Given the description of an element on the screen output the (x, y) to click on. 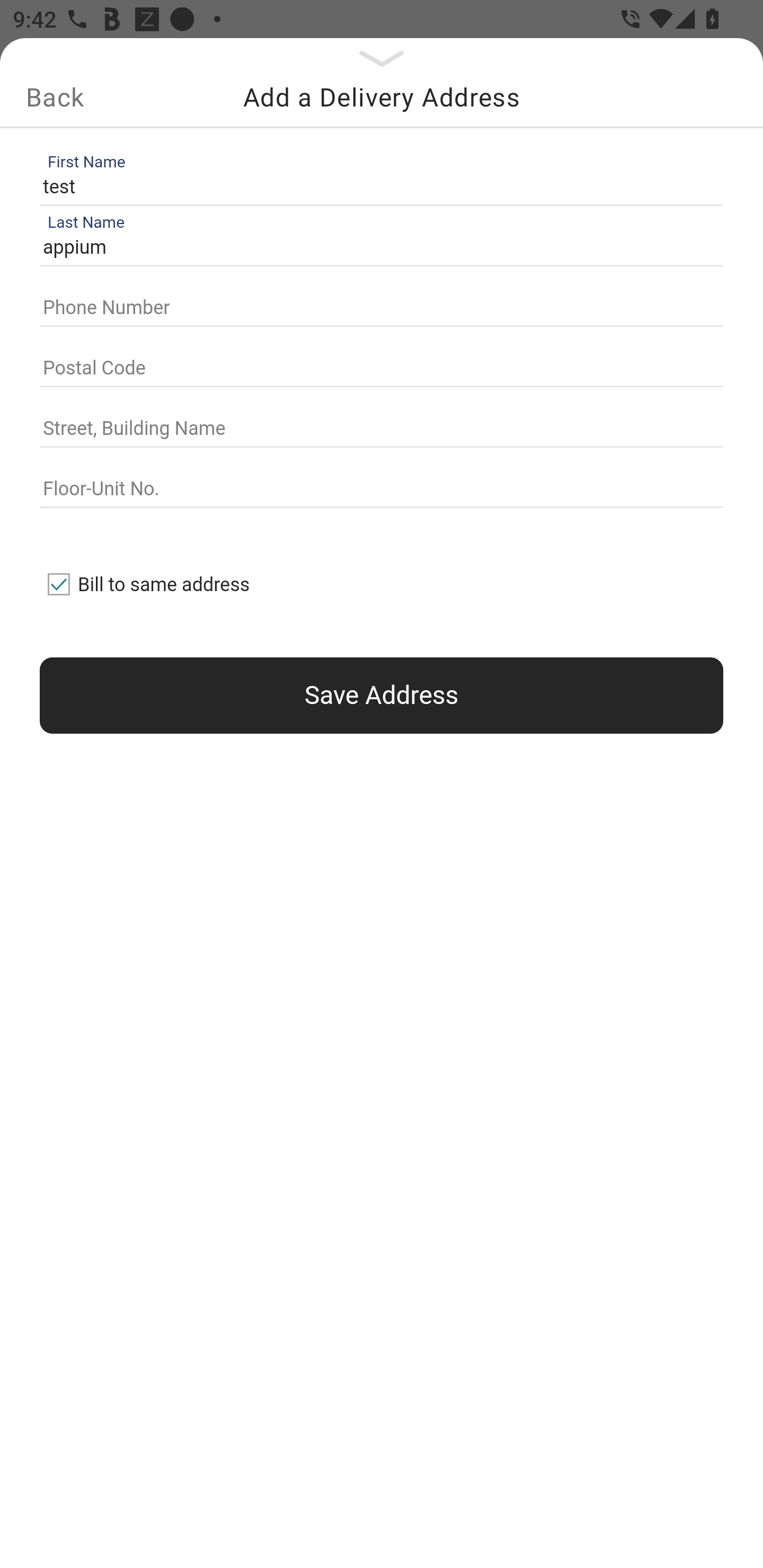
Back (54, 96)
Add a Delivery Address (381, 96)
test (377, 186)
appium (377, 247)
Save Address (381, 694)
